Given the description of an element on the screen output the (x, y) to click on. 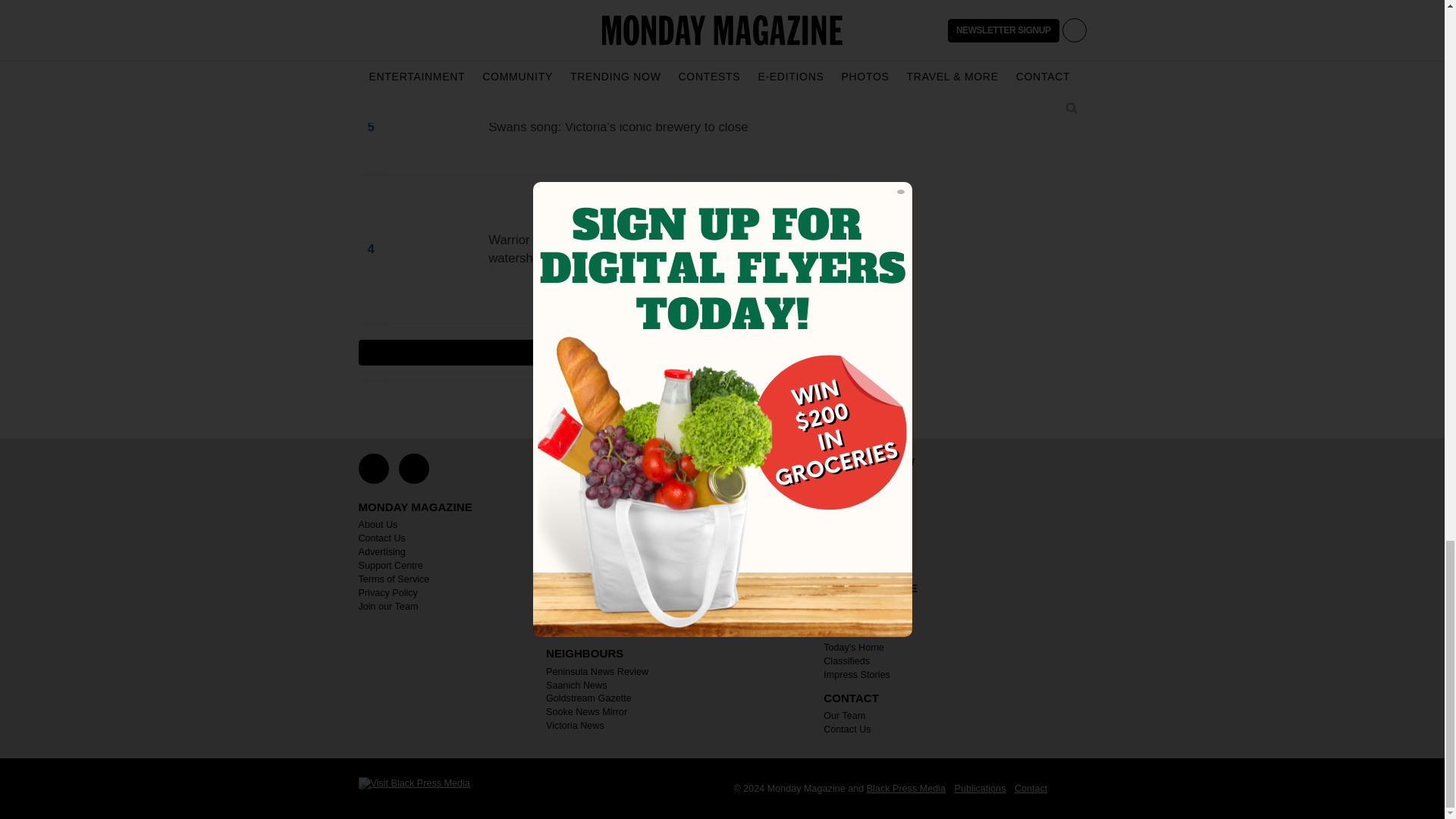
Instagram (413, 468)
Show Comments (602, 352)
X (373, 468)
